Given the description of an element on the screen output the (x, y) to click on. 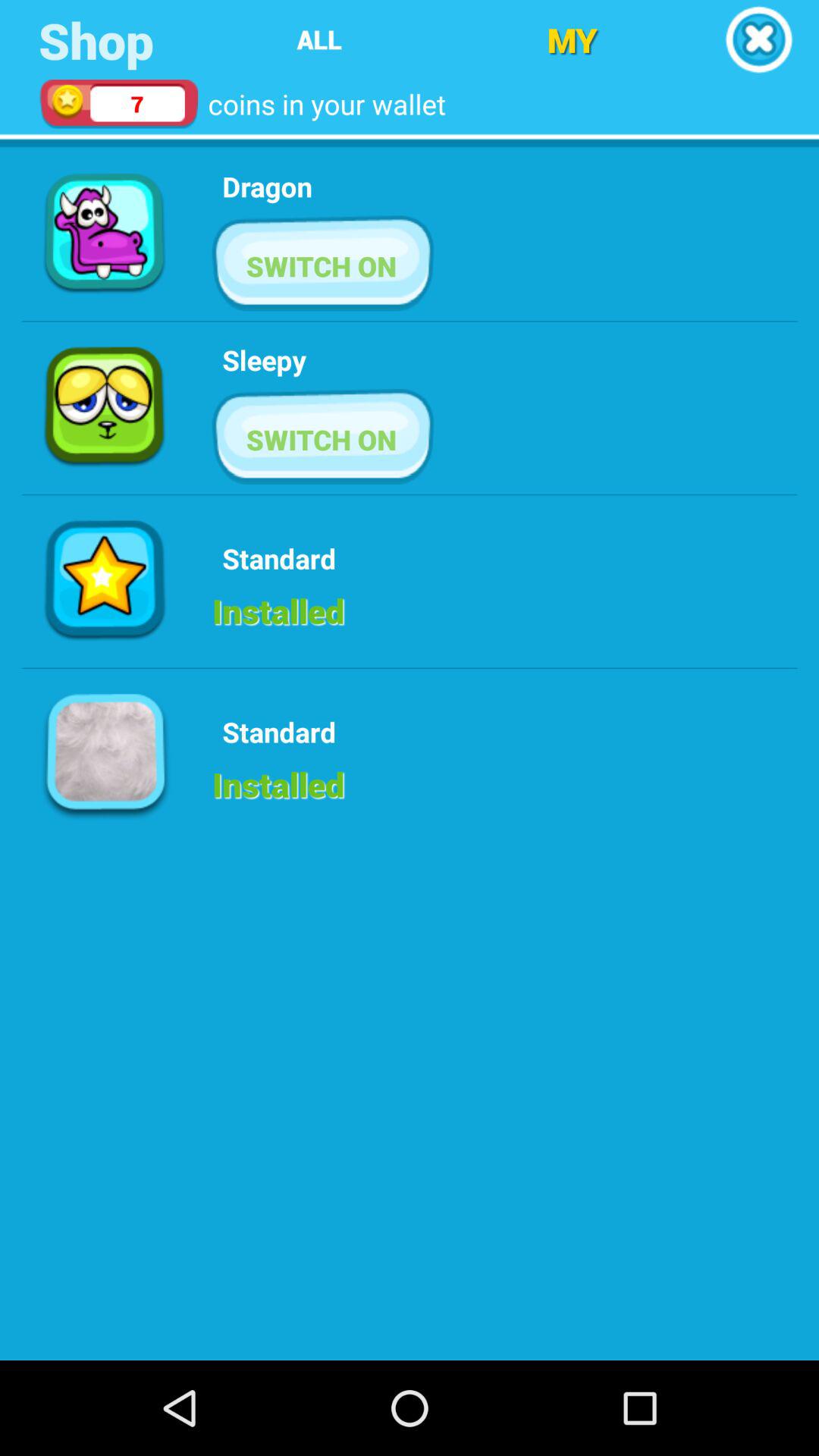
swipe until the my (572, 39)
